Given the description of an element on the screen output the (x, y) to click on. 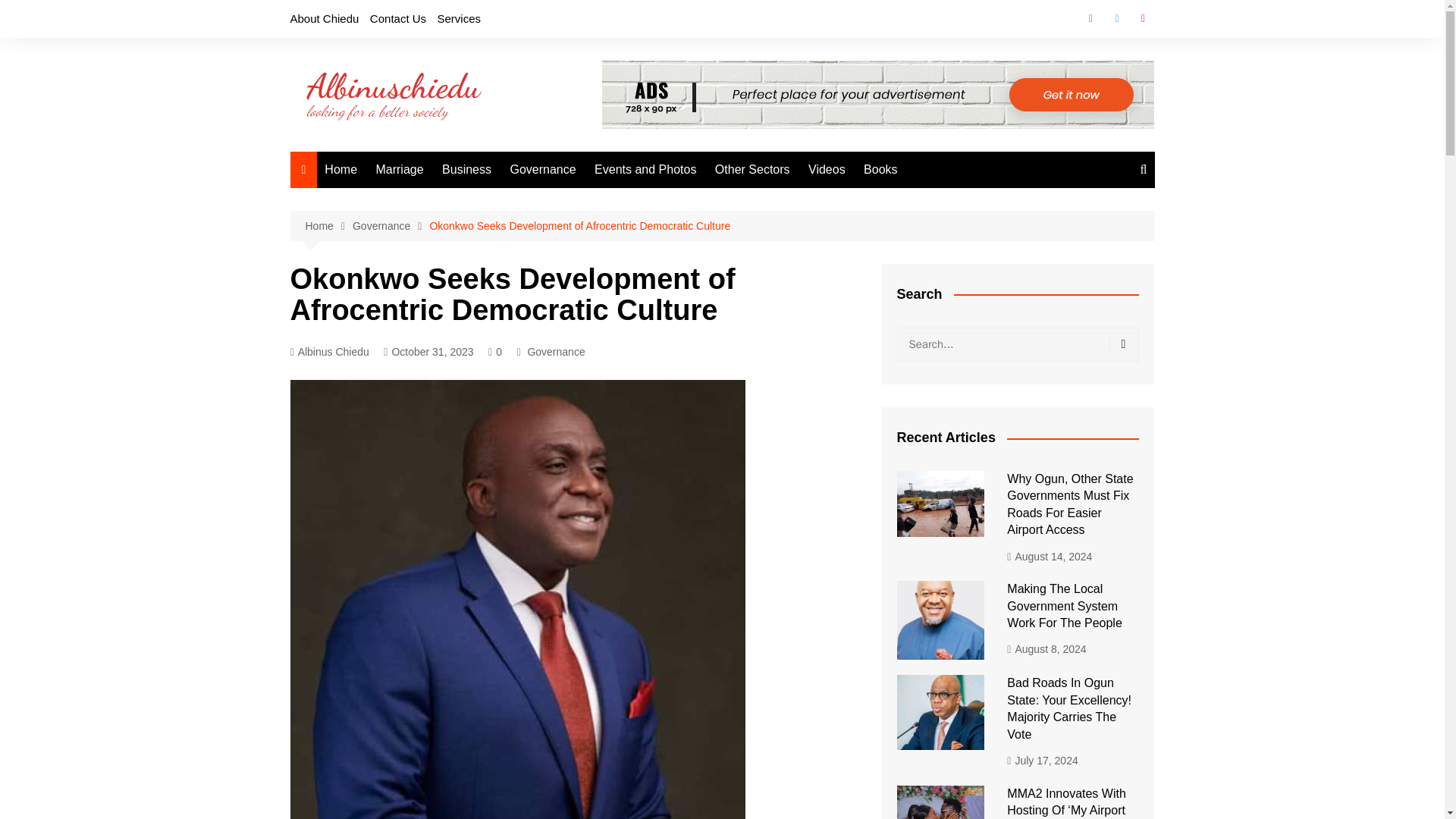
Other Sectors (752, 169)
Marriage (399, 169)
About Chiedu (323, 18)
Home (341, 169)
Events and Photos (644, 169)
Books (880, 169)
Facebook (1091, 18)
Services (459, 18)
Governance (556, 351)
Governance (542, 169)
